Given the description of an element on the screen output the (x, y) to click on. 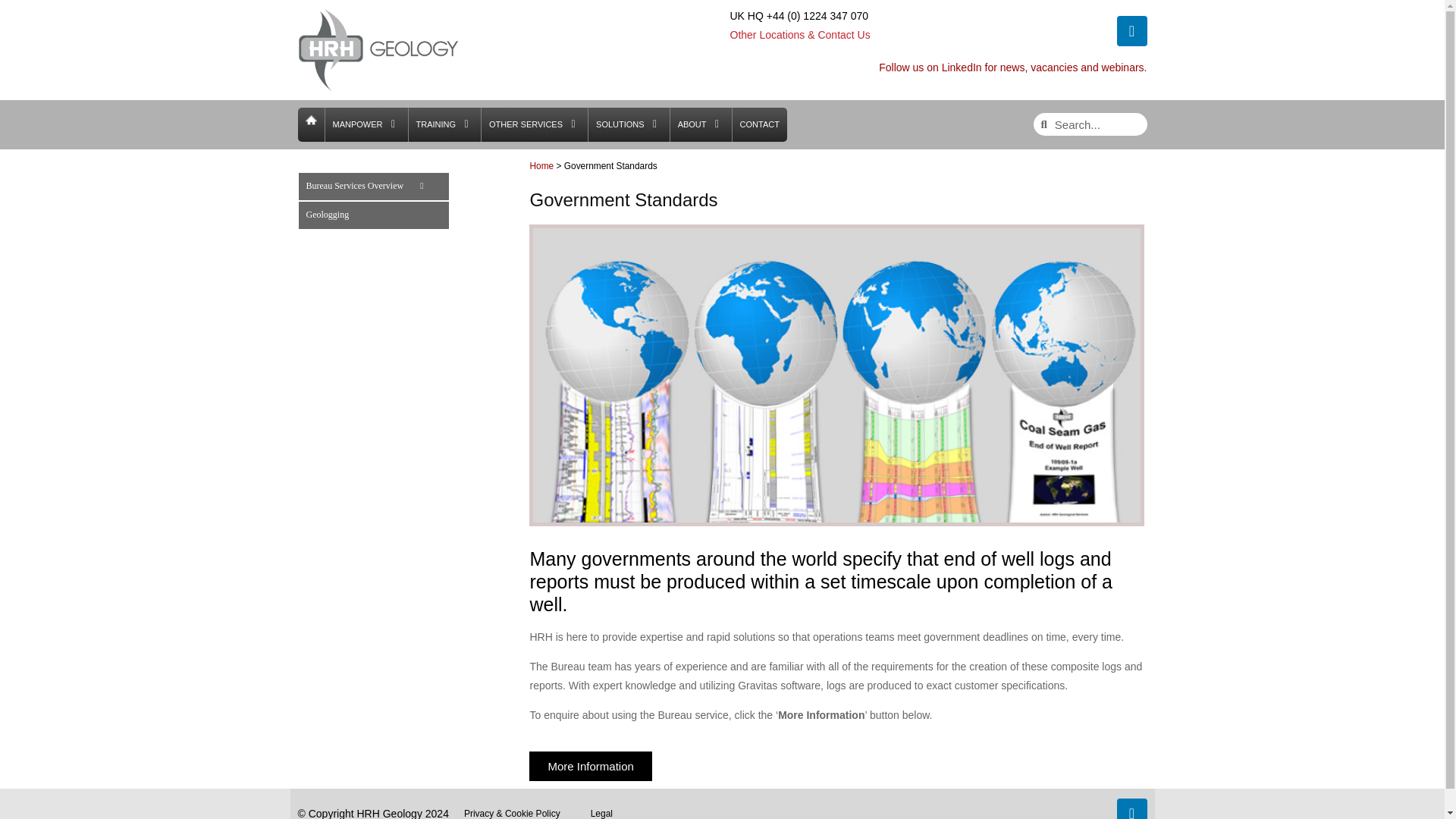
MANPOWER (356, 124)
Follow us on LinkedIn for news, vacancies and webinars. (1013, 67)
TRAINING (434, 124)
OTHER SERVICES (525, 124)
